Given the description of an element on the screen output the (x, y) to click on. 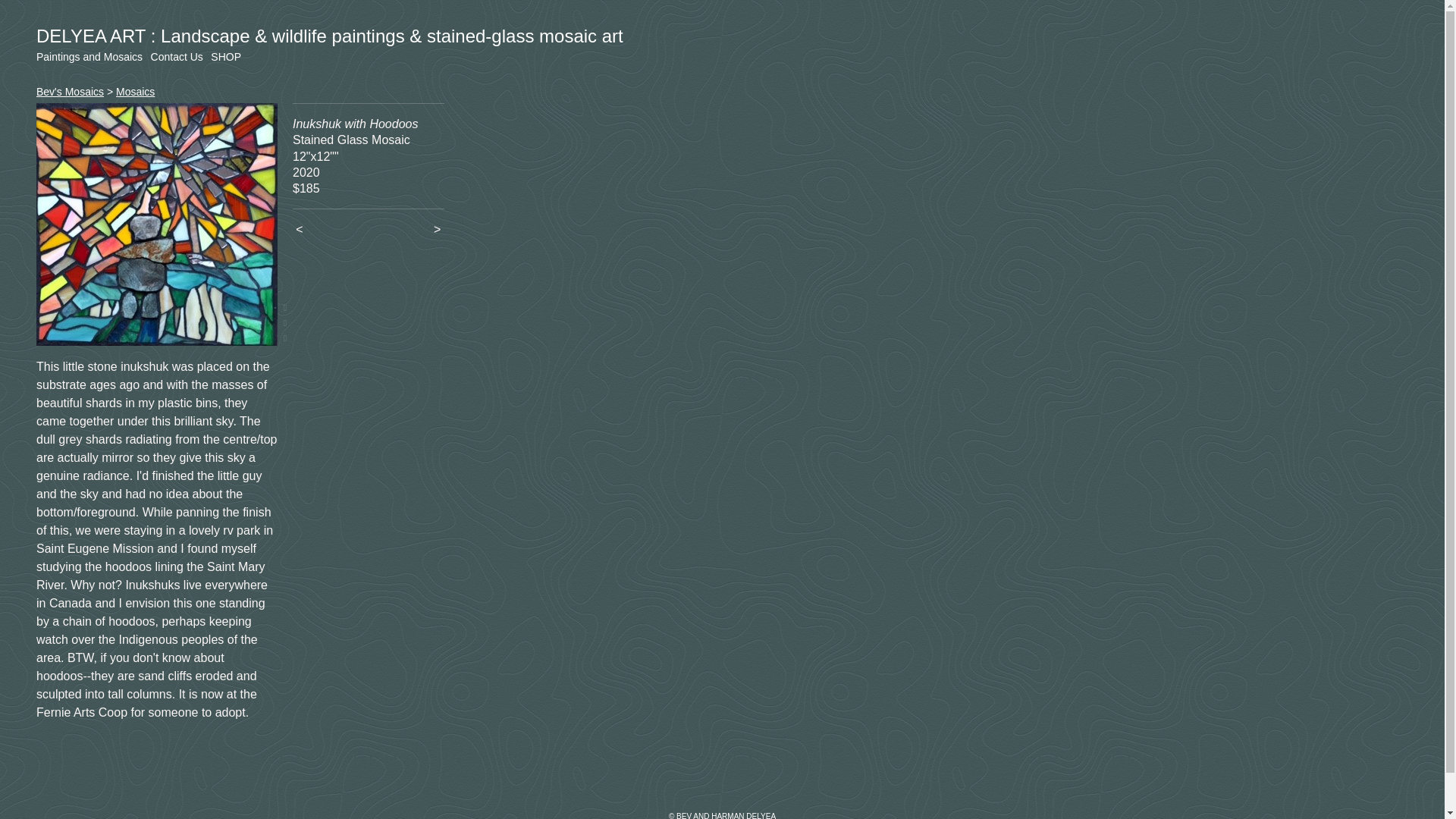
Contact Us (176, 56)
Mosaics (135, 91)
Paintings and Mosaics (89, 56)
Inukshuk with Hoodoos (157, 224)
SHOP (225, 56)
Bev's Mosaics (69, 91)
